Given the description of an element on the screen output the (x, y) to click on. 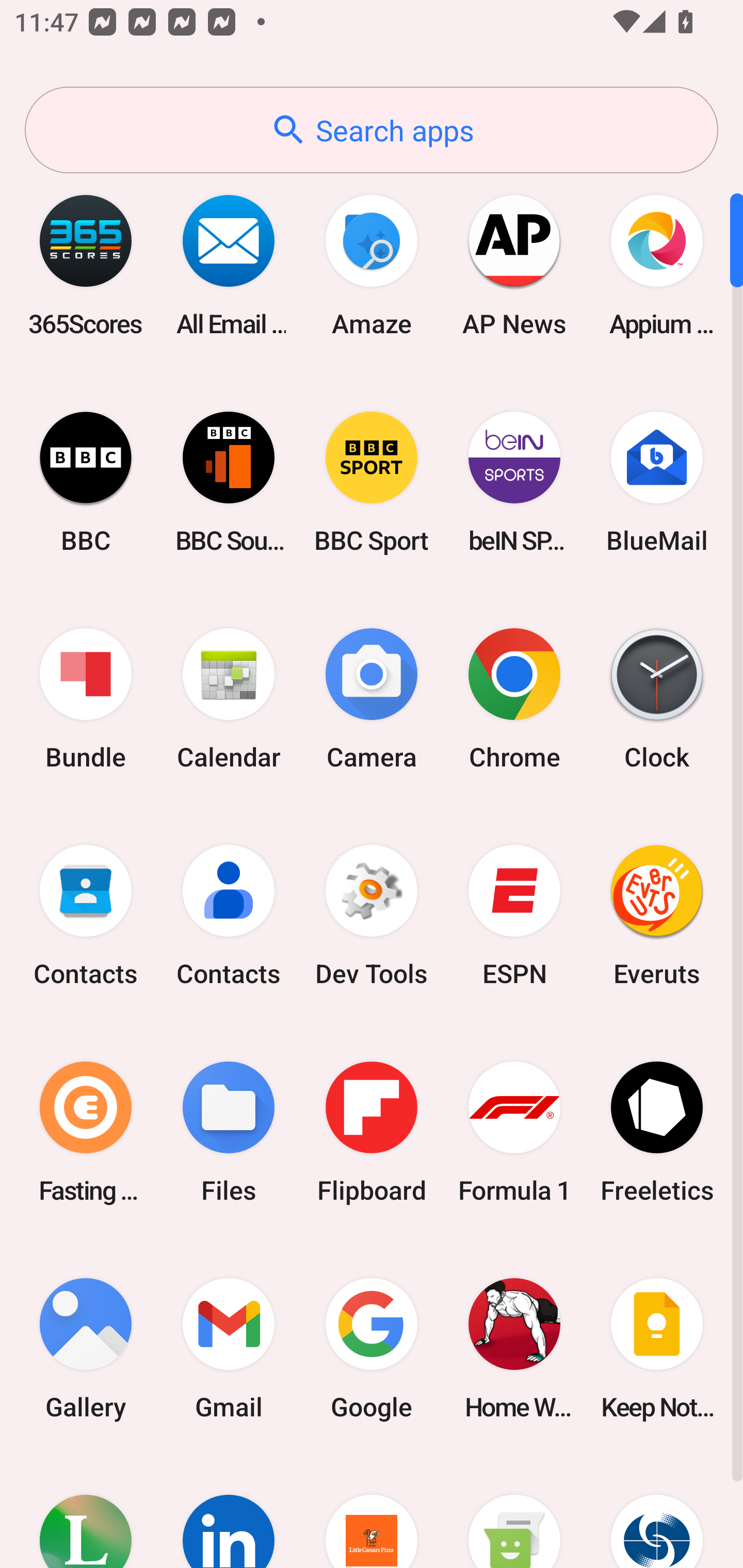
  Search apps (371, 130)
365Scores (85, 264)
All Email Connect (228, 264)
Amaze (371, 264)
AP News (514, 264)
Appium Settings (656, 264)
BBC (85, 482)
BBC Sounds (228, 482)
BBC Sport (371, 482)
beIN SPORTS (514, 482)
BlueMail (656, 482)
Bundle (85, 699)
Calendar (228, 699)
Camera (371, 699)
Chrome (514, 699)
Clock (656, 699)
Contacts (85, 915)
Contacts (228, 915)
Dev Tools (371, 915)
ESPN (514, 915)
Everuts (656, 915)
Fasting Coach (85, 1131)
Files (228, 1131)
Flipboard (371, 1131)
Formula 1 (514, 1131)
Freeletics (656, 1131)
Gallery (85, 1348)
Gmail (228, 1348)
Google (371, 1348)
Home Workout (514, 1348)
Keep Notes (656, 1348)
Lifesum (85, 1512)
LinkedIn (228, 1512)
Little Caesars Pizza (371, 1512)
Messaging (514, 1512)
MyObservatory (656, 1512)
